Given the description of an element on the screen output the (x, y) to click on. 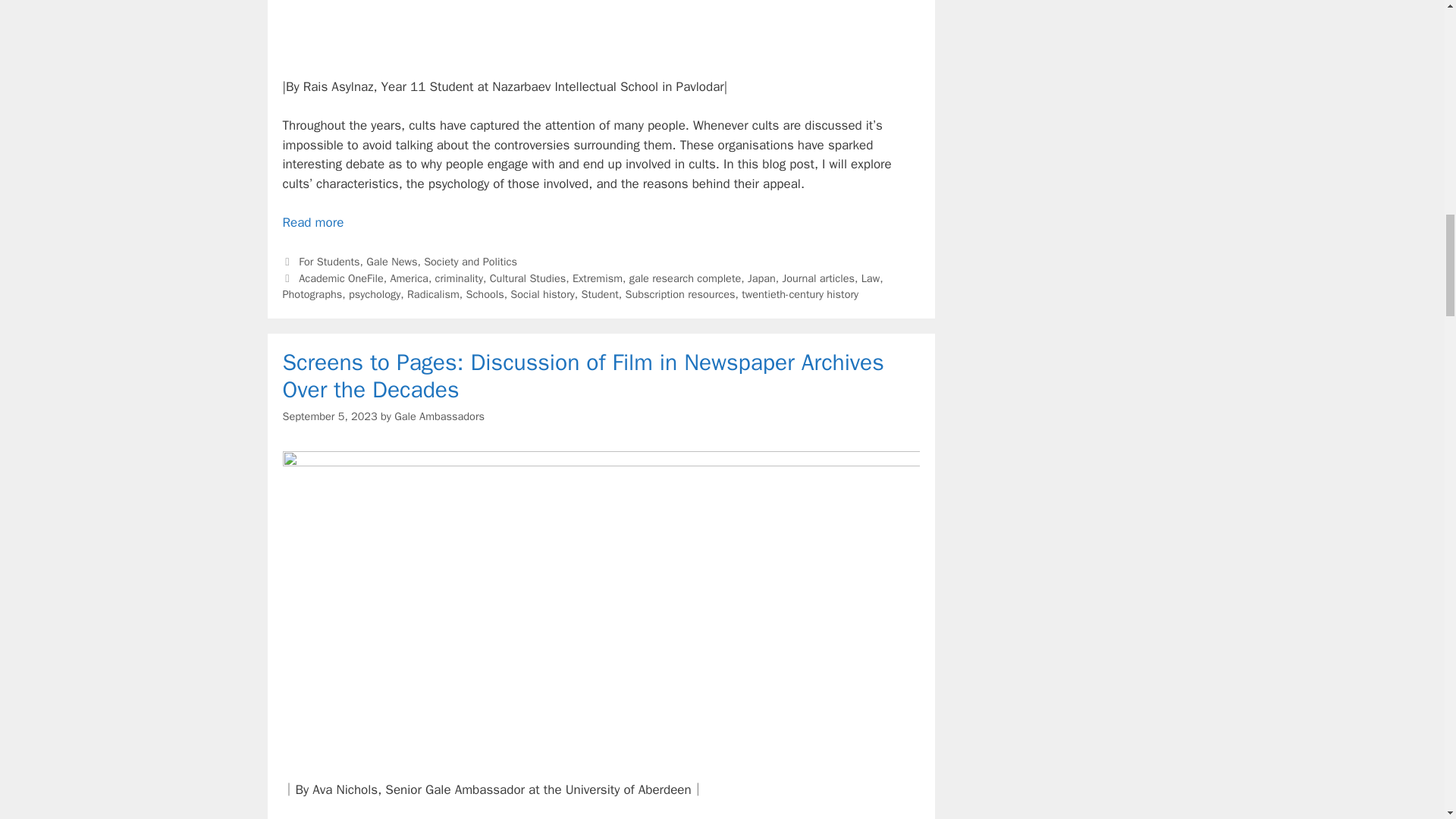
View all posts by Gale Ambassadors (439, 416)
